Given the description of an element on the screen output the (x, y) to click on. 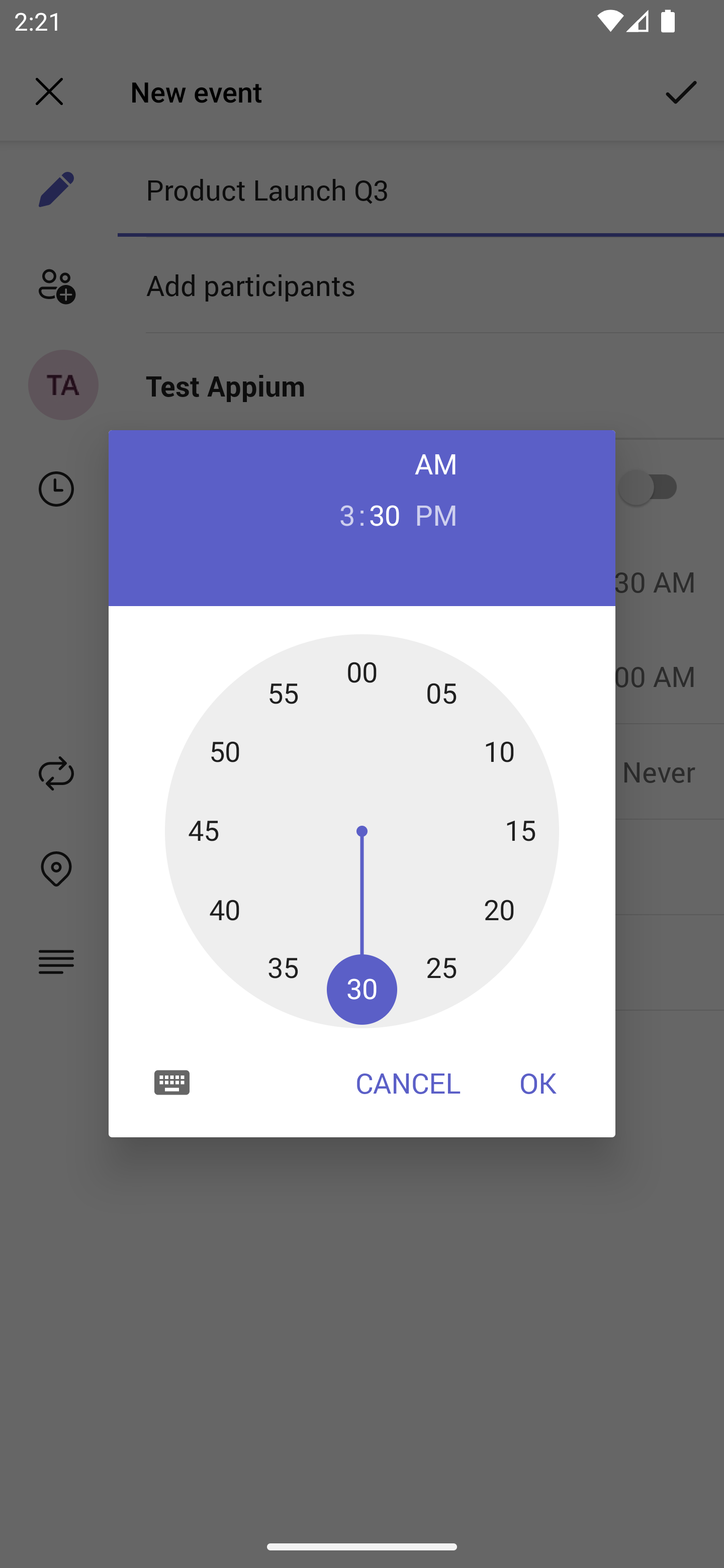
AM (435, 463)
PM (435, 514)
3 (338, 514)
30 (384, 514)
CANCEL (407, 1082)
OK (537, 1082)
Switch to text input mode for the time input. (171, 1081)
